Given the description of an element on the screen output the (x, y) to click on. 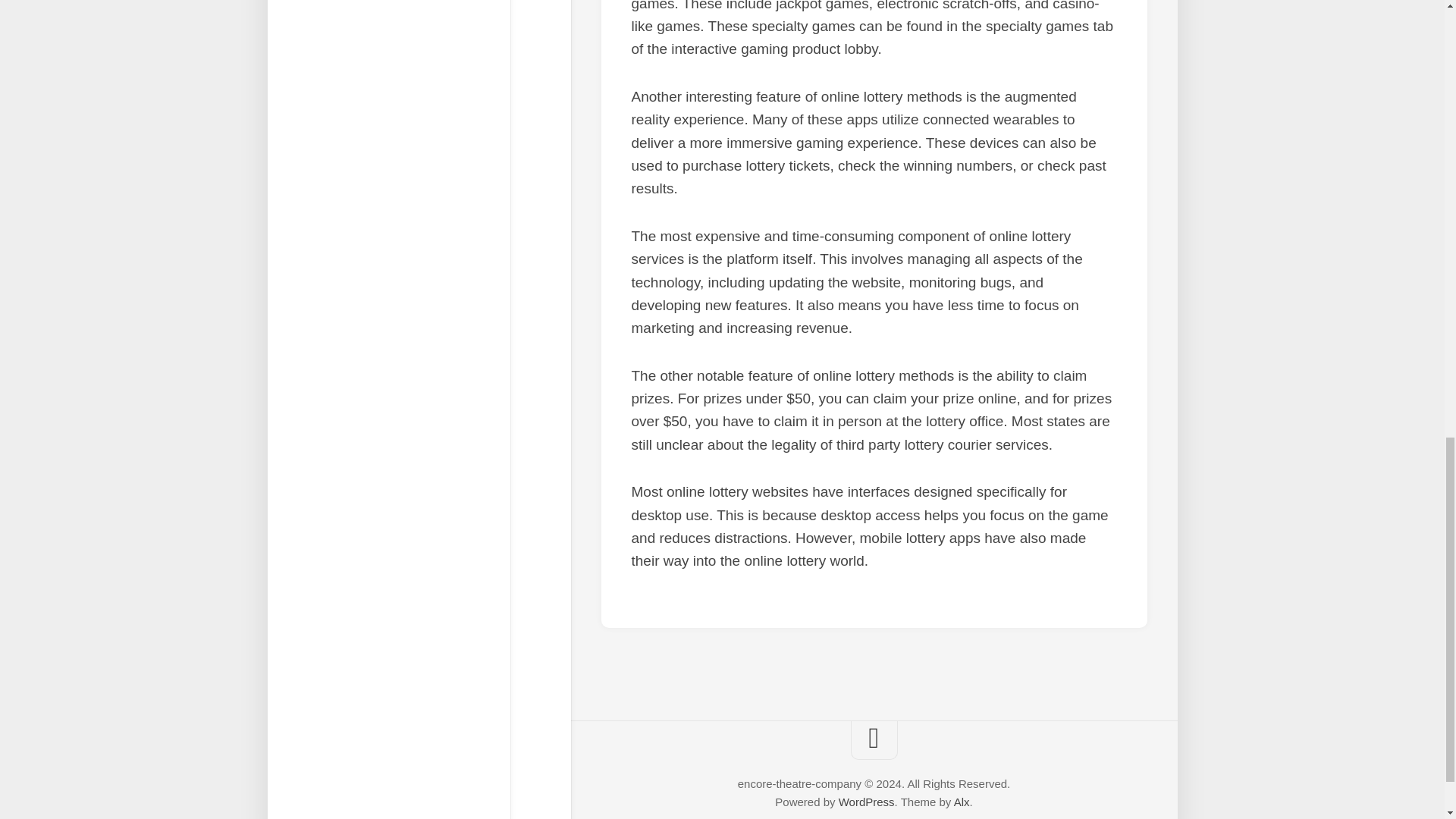
WordPress (866, 801)
Alx (961, 801)
